Given the description of an element on the screen output the (x, y) to click on. 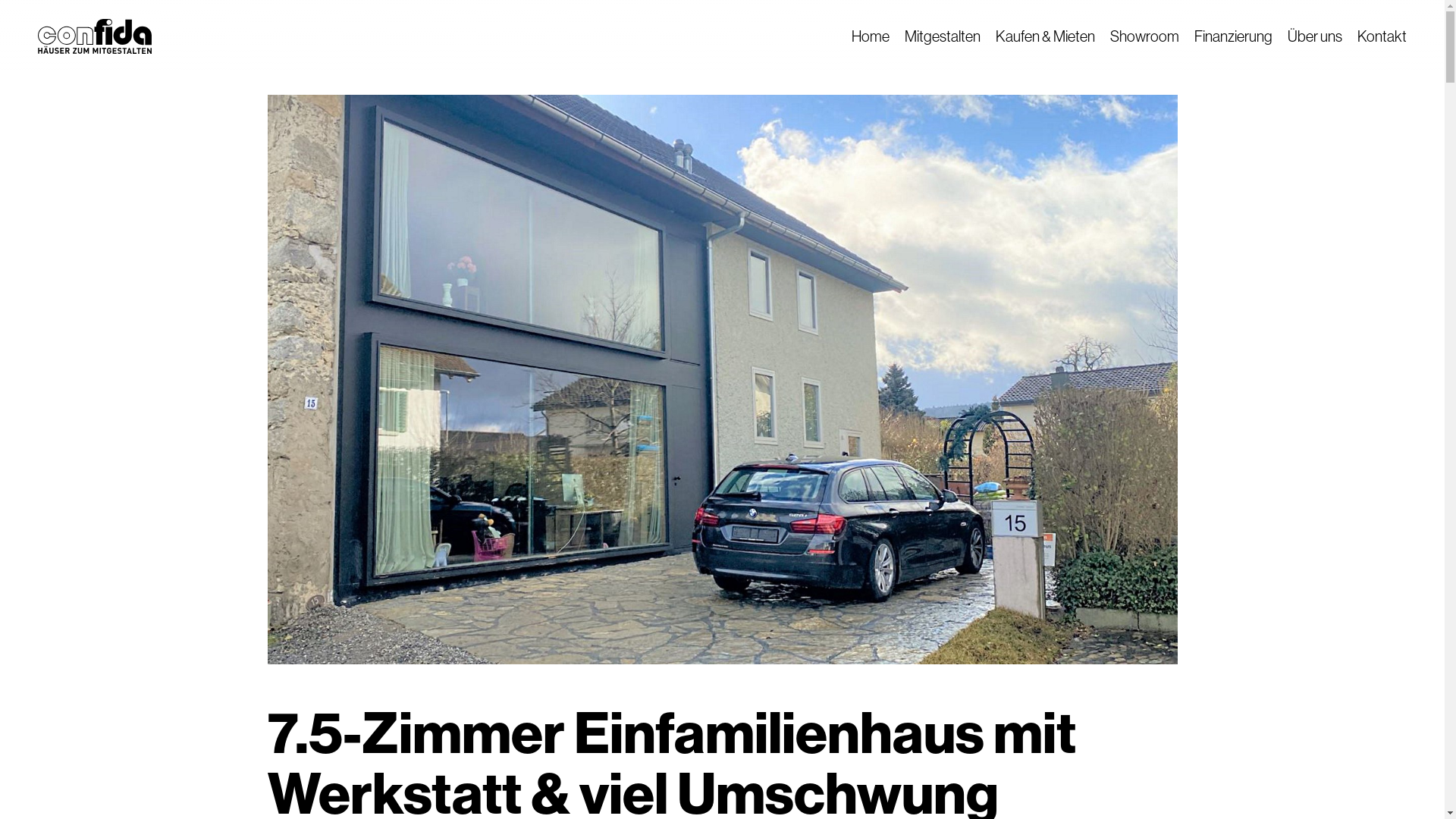
Showroom Element type: text (1144, 35)
Kontakt Element type: text (1381, 35)
Home Element type: text (870, 35)
Kaufen & Mieten Element type: text (1045, 35)
Finanzierung Element type: text (1233, 35)
Mitgestalten Element type: text (942, 35)
